Given the description of an element on the screen output the (x, y) to click on. 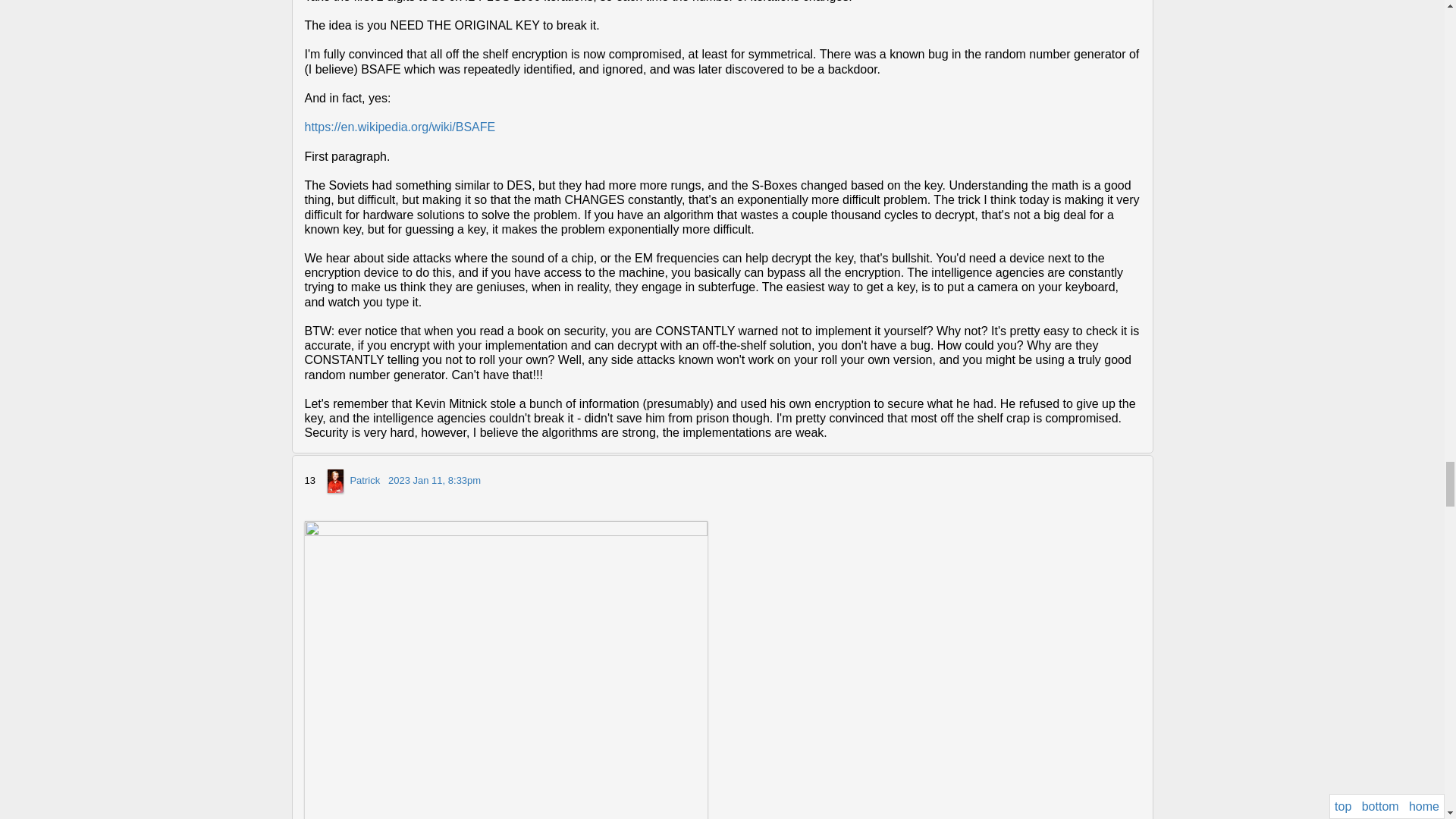
permalink to this comment (434, 480)
